Given the description of an element on the screen output the (x, y) to click on. 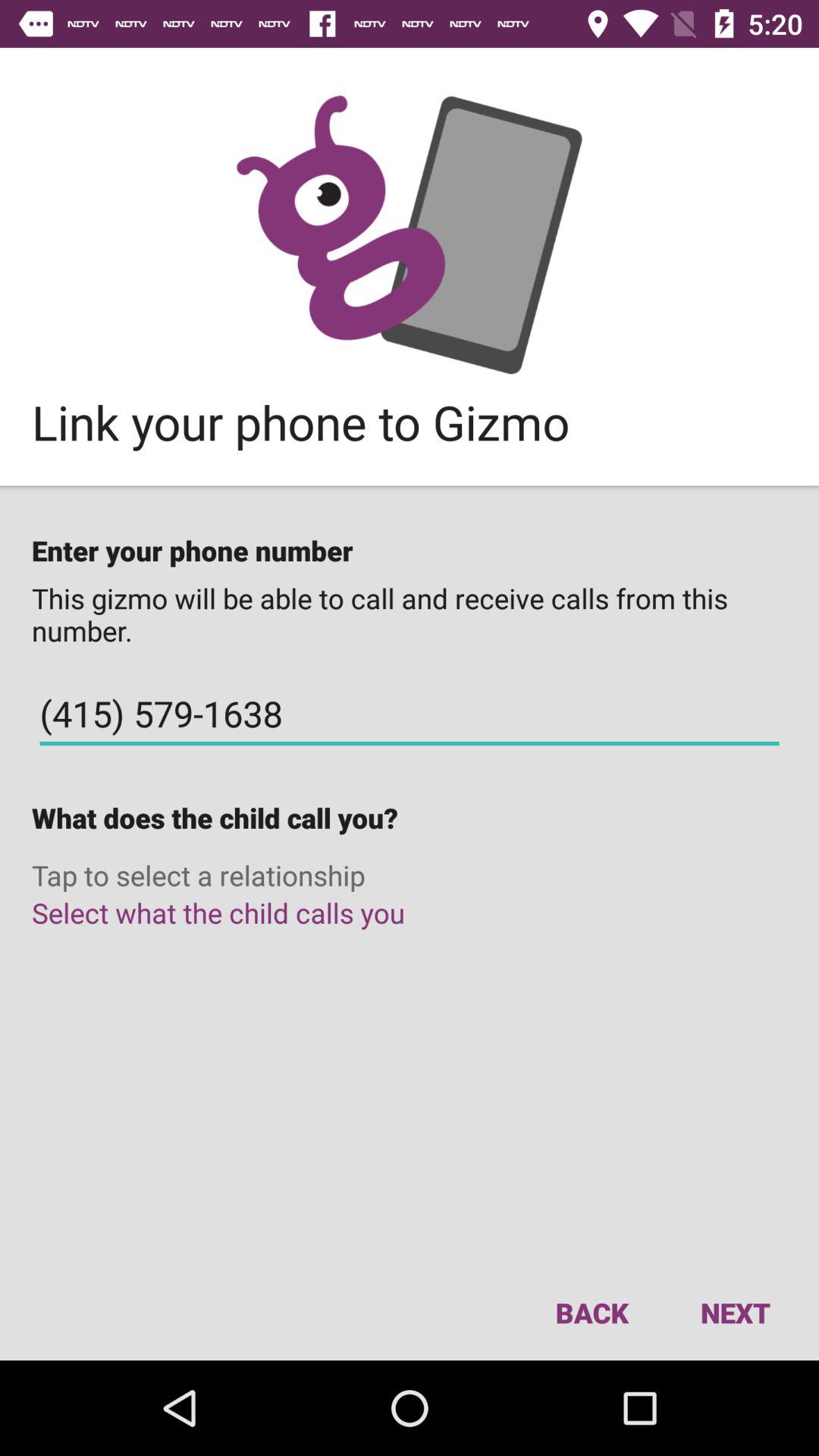
launch the back item (591, 1312)
